Given the description of an element on the screen output the (x, y) to click on. 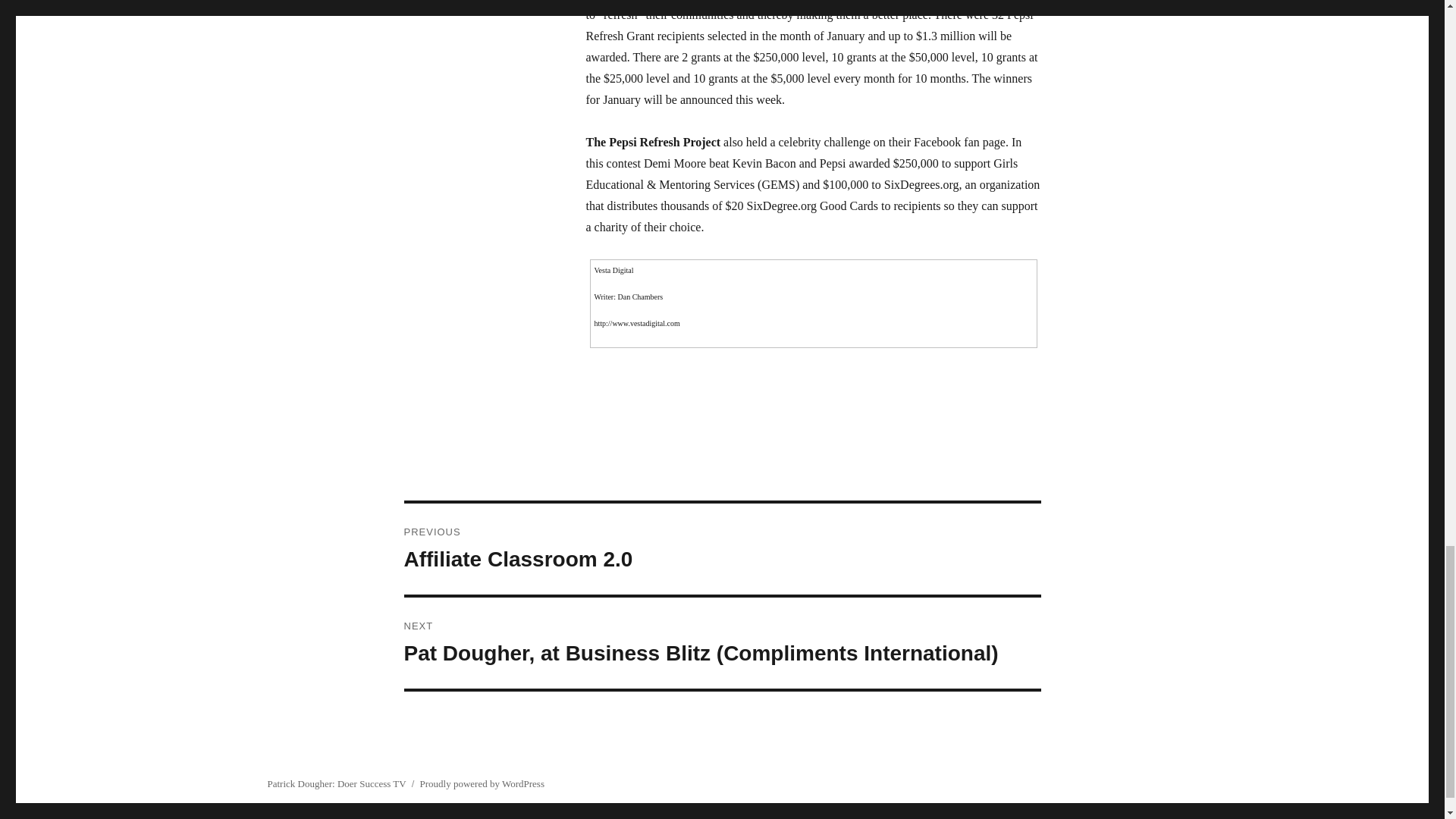
Proudly powered by WordPress (482, 783)
Patrick Dougher: Doer Success TV (336, 783)
